Given the description of an element on the screen output the (x, y) to click on. 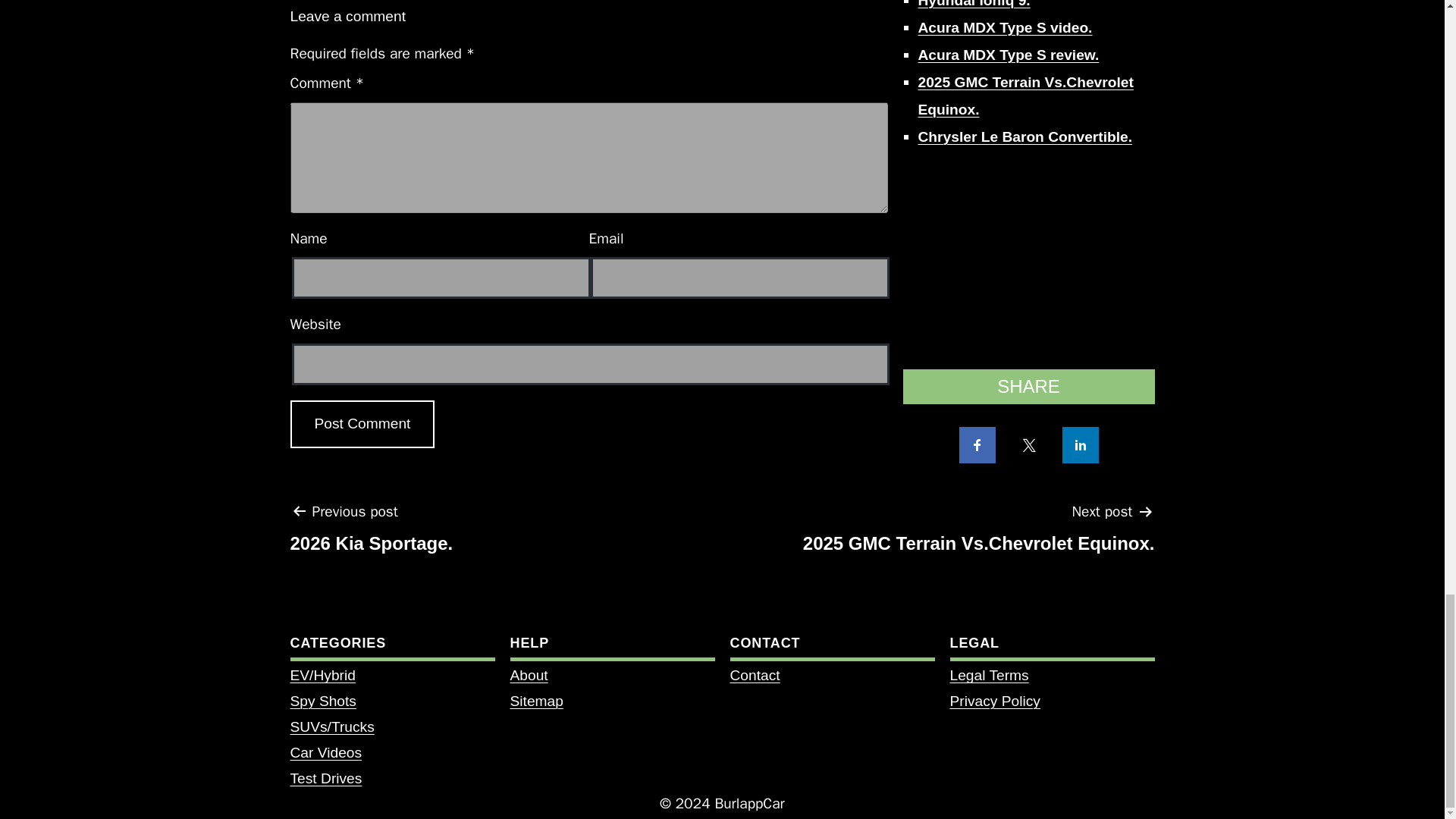
Sitemap (535, 700)
Spy Shots (322, 700)
Post Comment (361, 423)
Legal Terms (370, 533)
Contact (988, 675)
Spy Shots (753, 675)
About (322, 700)
Privacy Policy (528, 675)
